Given the description of an element on the screen output the (x, y) to click on. 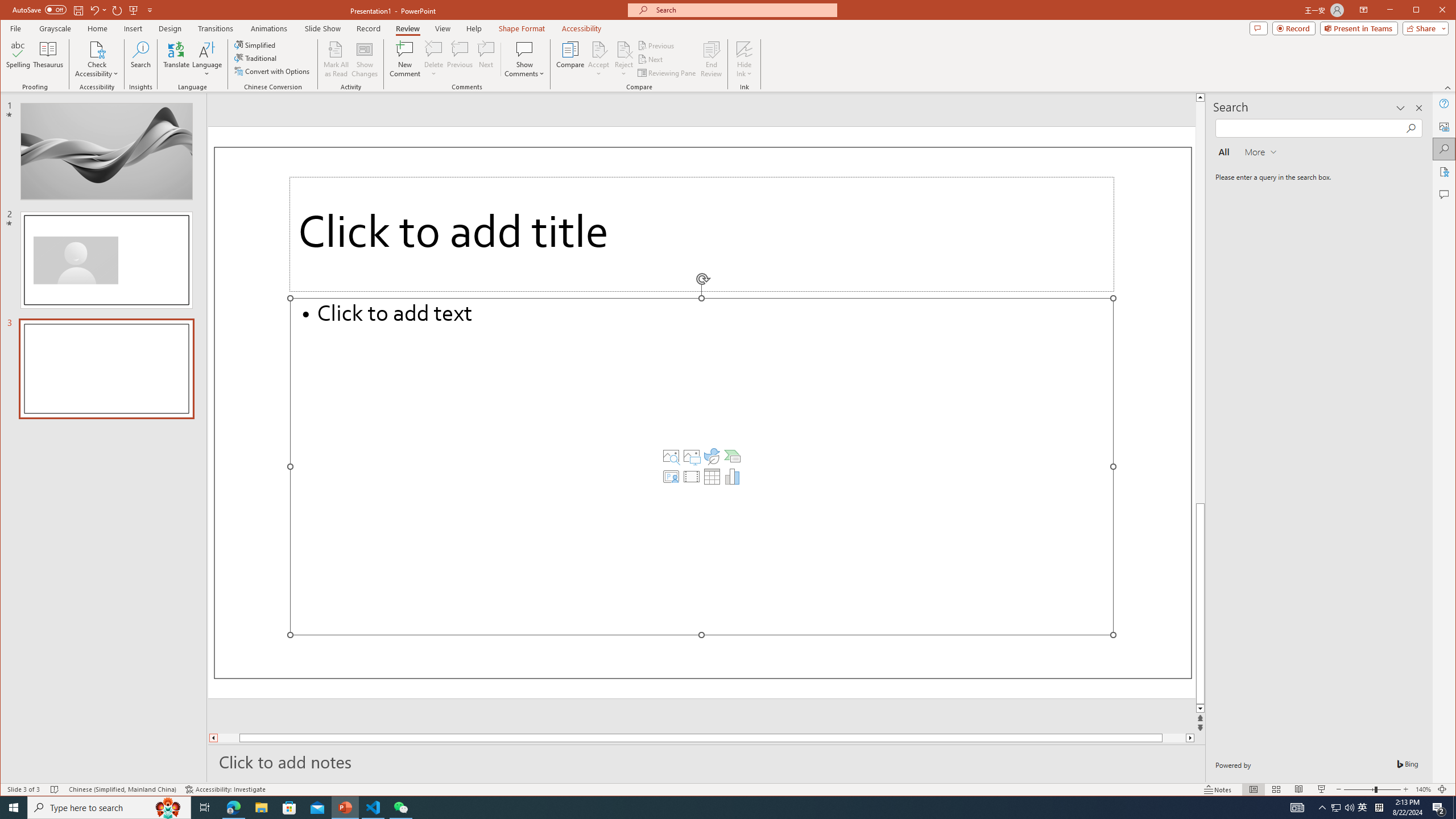
Thesaurus... (48, 59)
Insert Video (691, 476)
Stock Images (670, 456)
Compare (569, 59)
New Comment (405, 59)
Accept Change (598, 48)
